Given the description of an element on the screen output the (x, y) to click on. 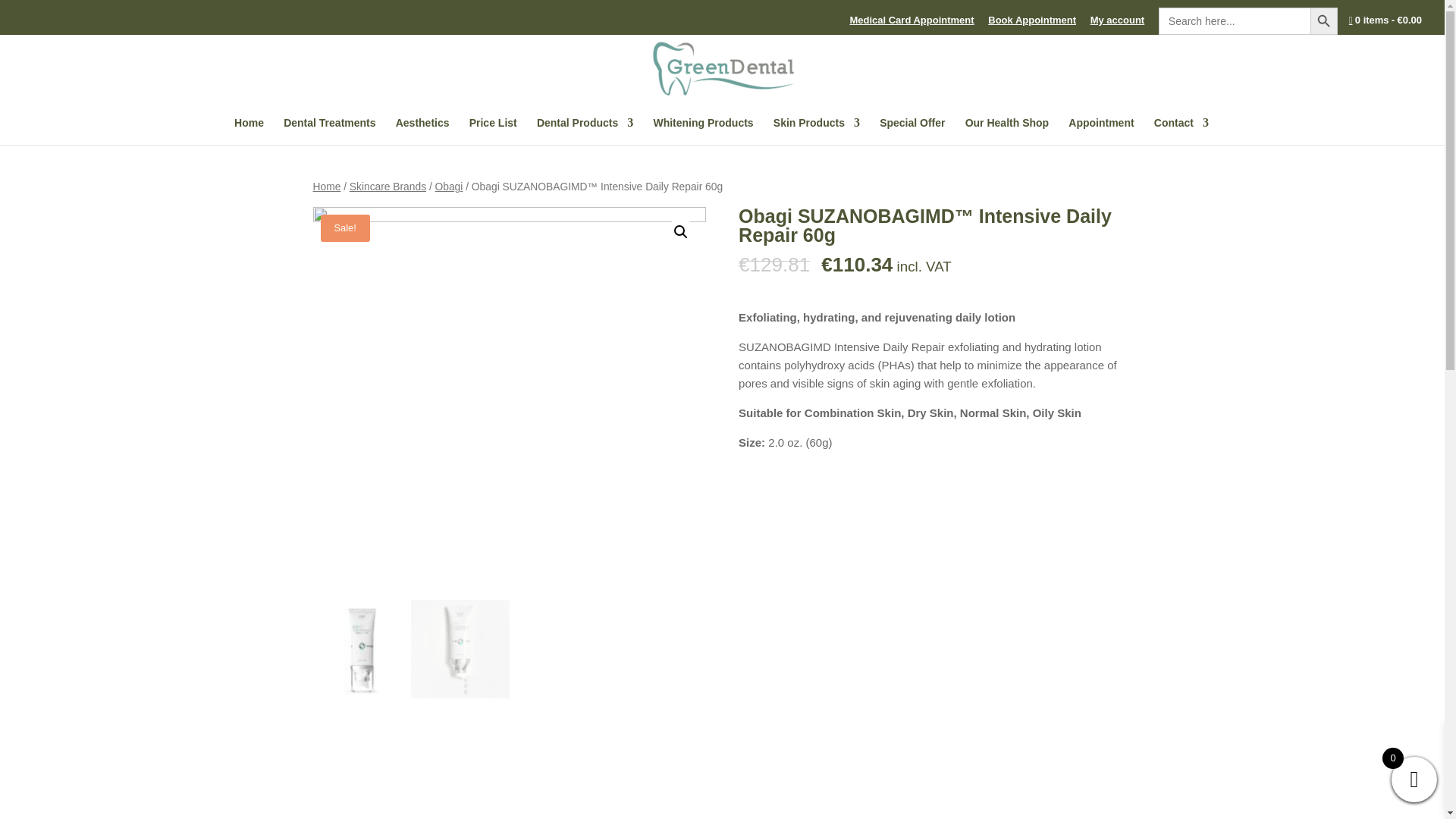
Appointment (1101, 130)
Home (248, 130)
Obagi (449, 186)
Contact (1181, 130)
My account (1117, 23)
Home (326, 186)
Price List (492, 130)
Skin Products (816, 130)
Dental Treatments (329, 130)
Whitening Products (702, 130)
Special Offer (911, 130)
Skincare Brands (387, 186)
Our Health Shop (1006, 130)
Aesthetics (422, 130)
Dental Products (585, 130)
